Given the description of an element on the screen output the (x, y) to click on. 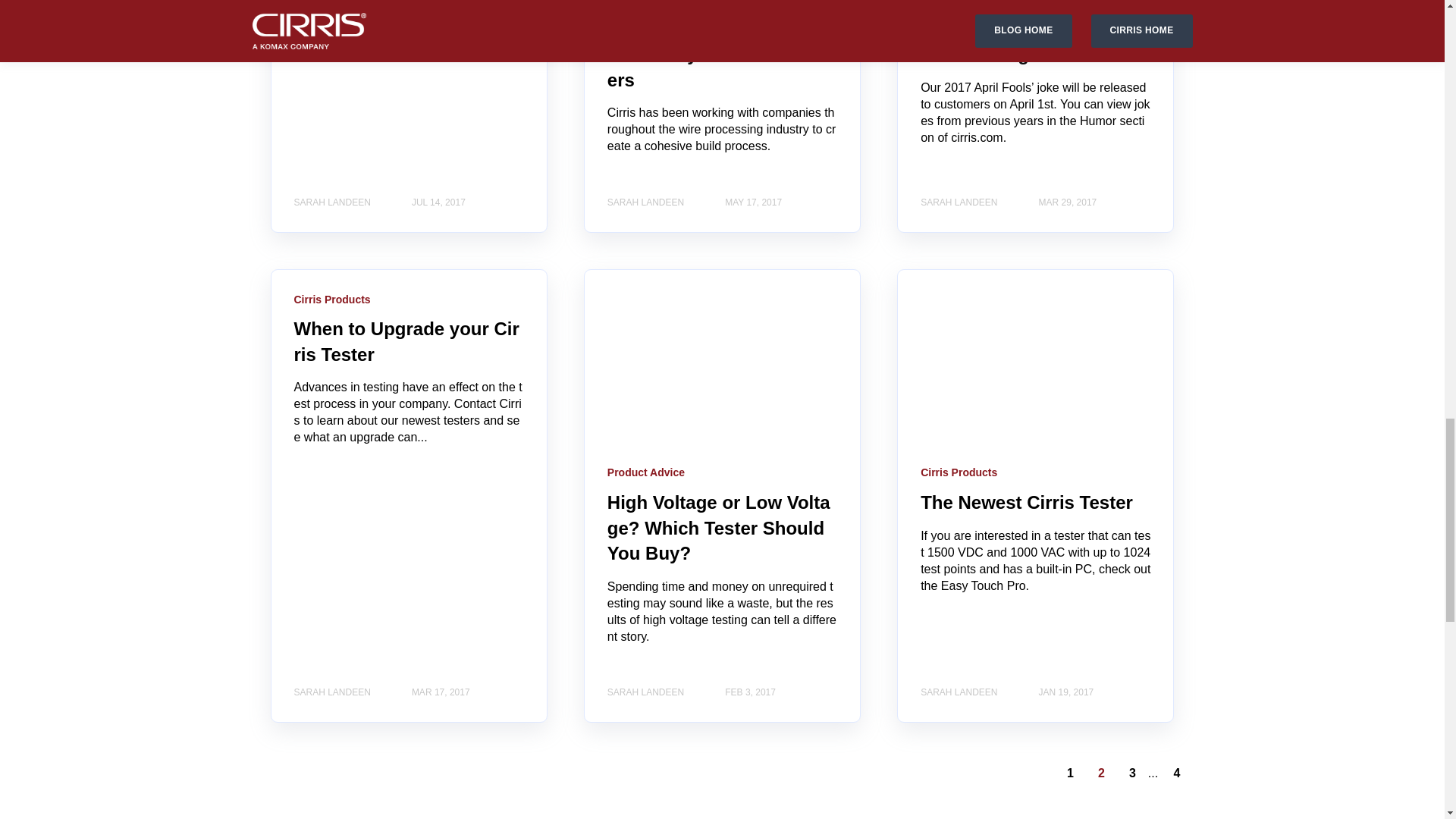
Need a Laugh? (985, 54)
The Newest Cirris Tester (1026, 502)
When to Upgrade your Cirris Tester (406, 341)
Cirris Plays Nice with Others (717, 67)
High Voltage or Low Voltage? Which Tester Should You Buy? (718, 527)
